Given the description of an element on the screen output the (x, y) to click on. 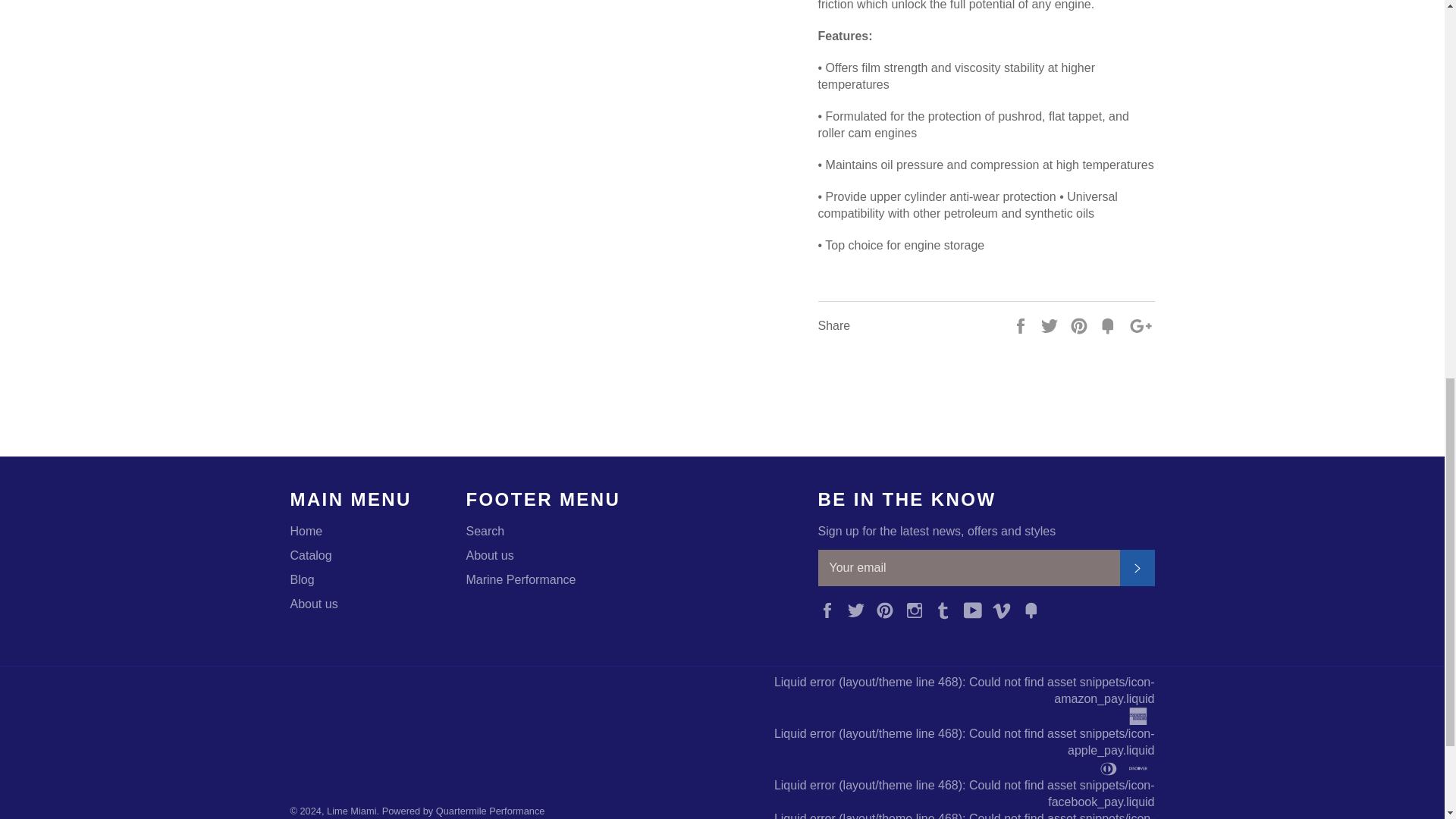
Facebook (829, 608)
Lime Miami on Instagram (918, 608)
Lime Miami on Facebook (829, 608)
Fancy (1035, 608)
Tumblr (946, 608)
Tweet (1051, 324)
Lime Miami on Tumblr (946, 608)
Lime Miami on Fancy (1035, 608)
Lime Miami on YouTube (976, 608)
Lime Miami on Vimeo (1004, 608)
